Given the description of an element on the screen output the (x, y) to click on. 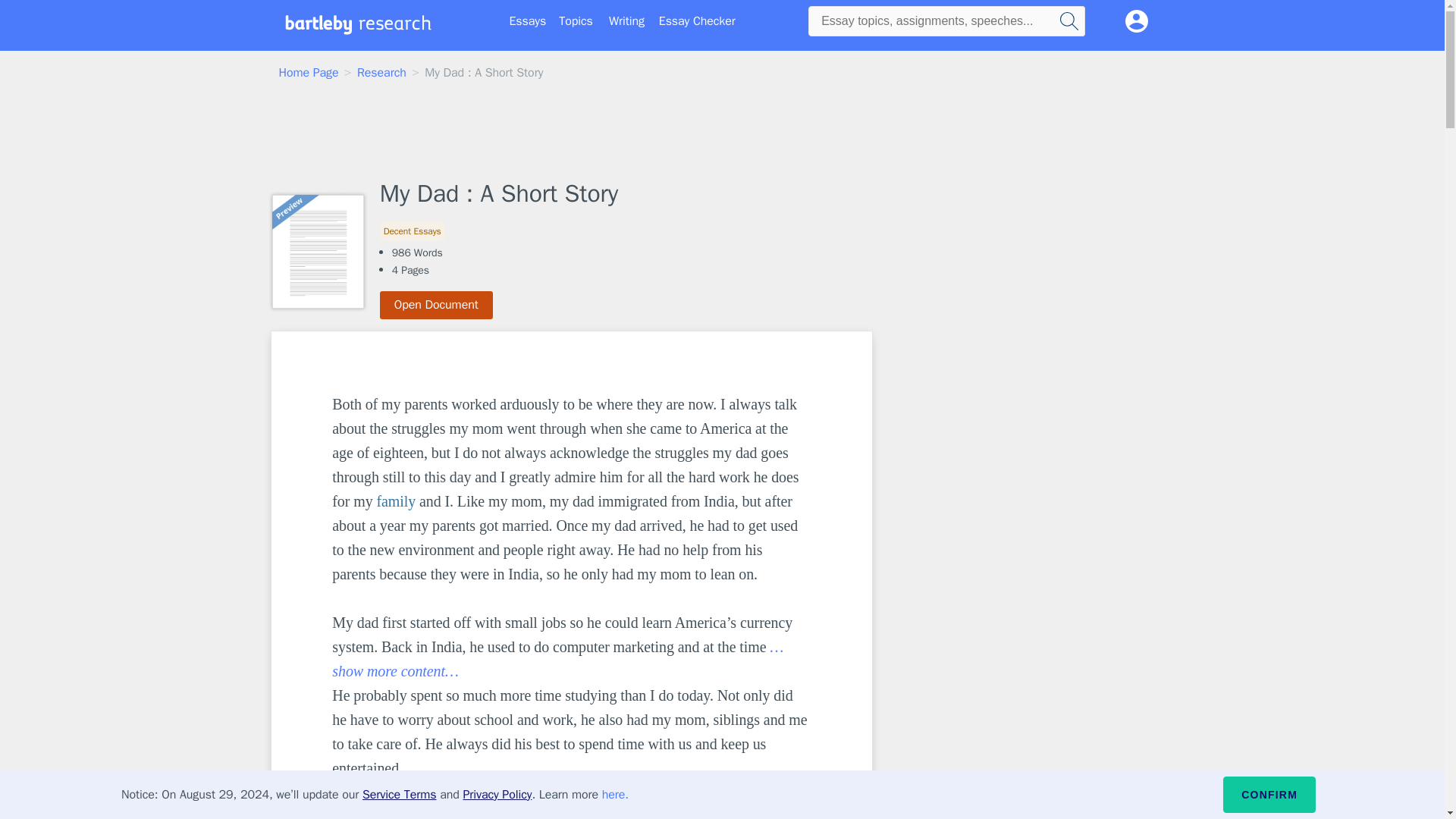
Essays (528, 20)
family (394, 501)
Topics (575, 20)
Research (381, 72)
Writing (626, 20)
Essay Checker (697, 20)
Home Page (309, 72)
Open Document (436, 305)
